Given the description of an element on the screen output the (x, y) to click on. 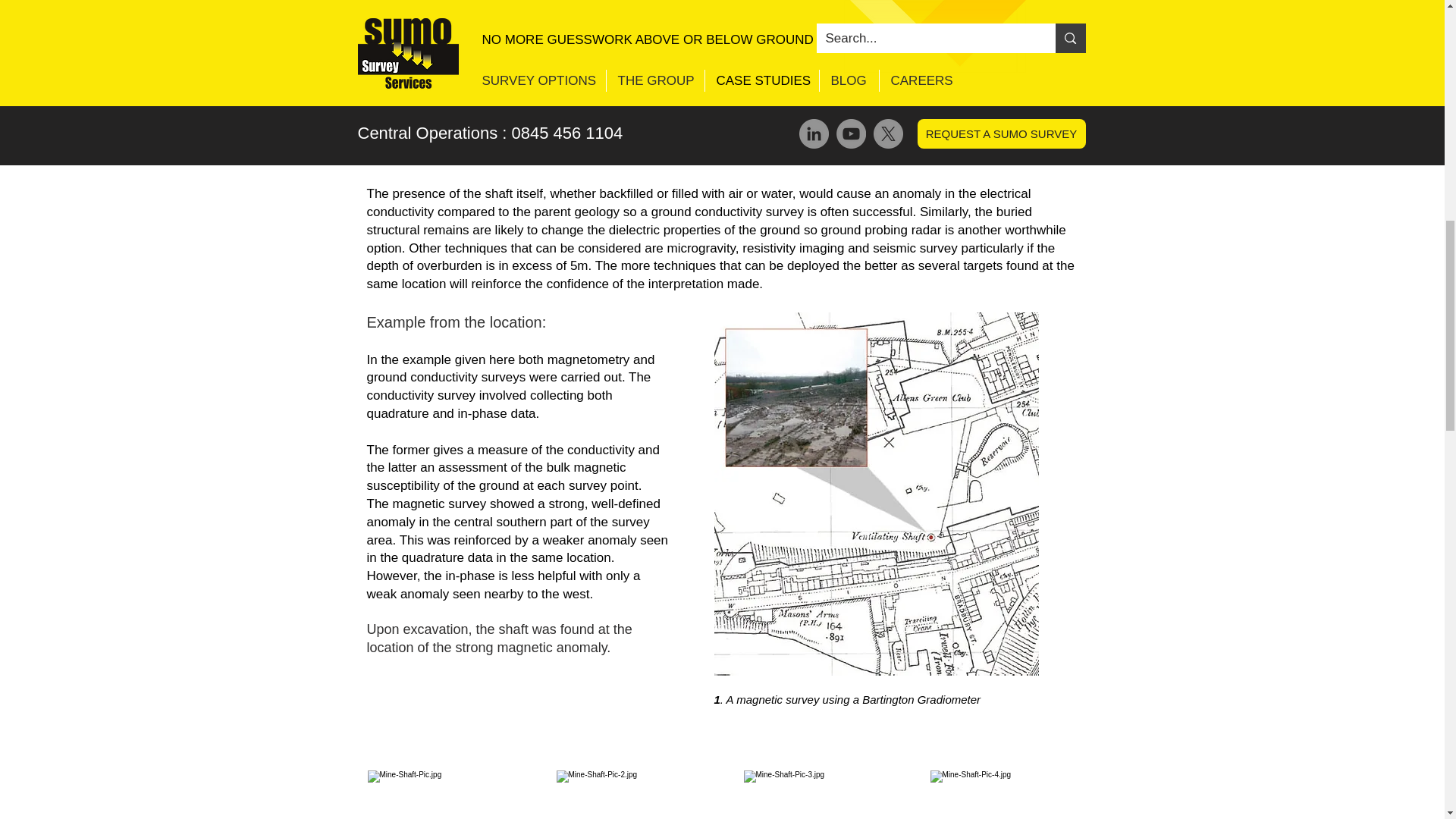
GettyImages-145680711.jpg (1005, 794)
GettyImages-145680711.jpg (818, 794)
Ground-Conductivity-Survey.png (720, 20)
